Given the description of an element on the screen output the (x, y) to click on. 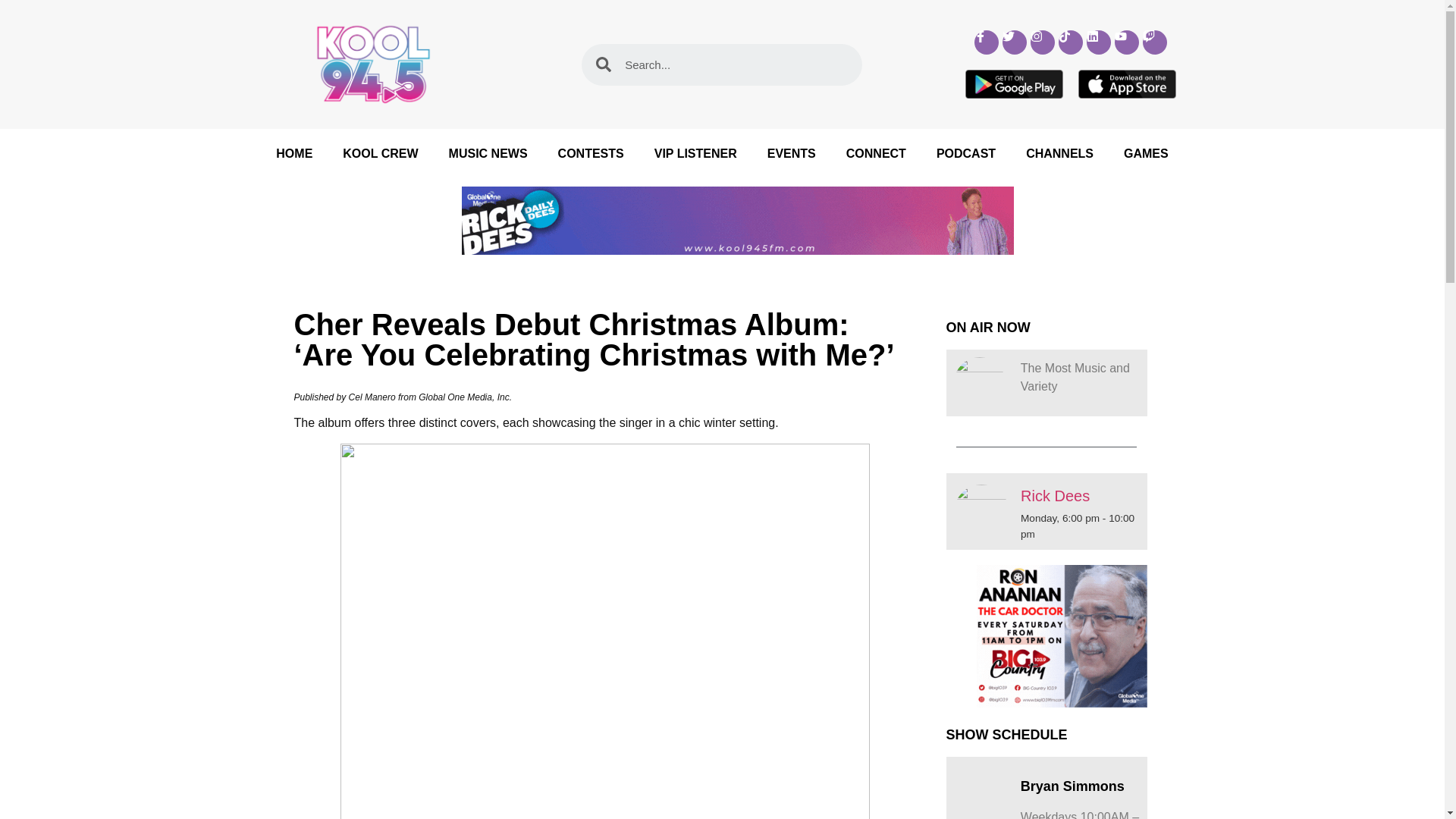
CONNECT (876, 153)
KOOL CREW (379, 153)
PODCAST (965, 153)
MUSIC NEWS (488, 153)
HOME (293, 153)
CHANNELS (1059, 153)
Search (737, 64)
EVENTS (791, 153)
CONTESTS (591, 153)
VIP LISTENER (695, 153)
